Given the description of an element on the screen output the (x, y) to click on. 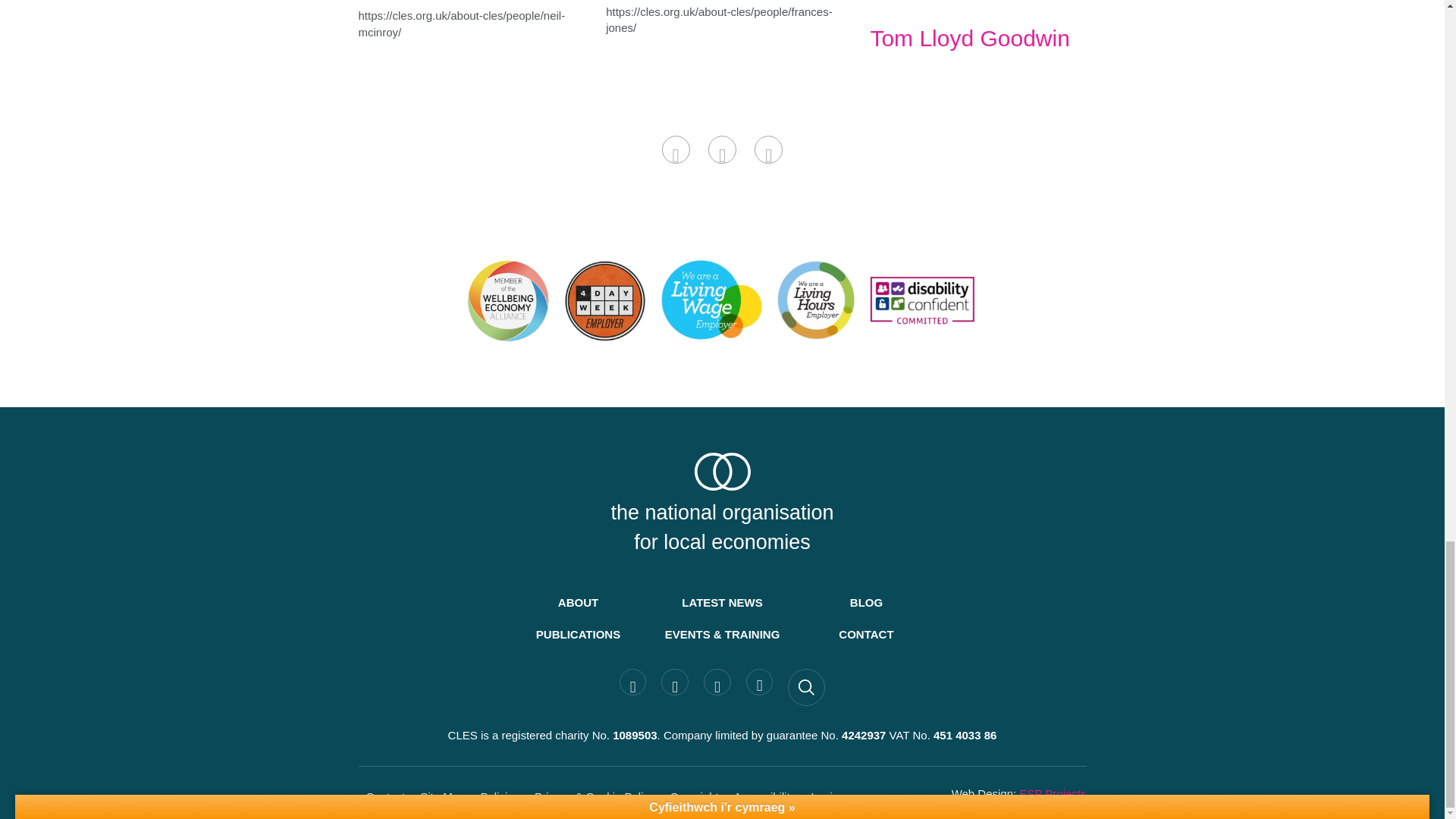
Share on Facebook (676, 149)
Follow us on Facebook (633, 682)
Share on Twitter (721, 149)
Follow us on Twitter (674, 682)
